Given the description of an element on the screen output the (x, y) to click on. 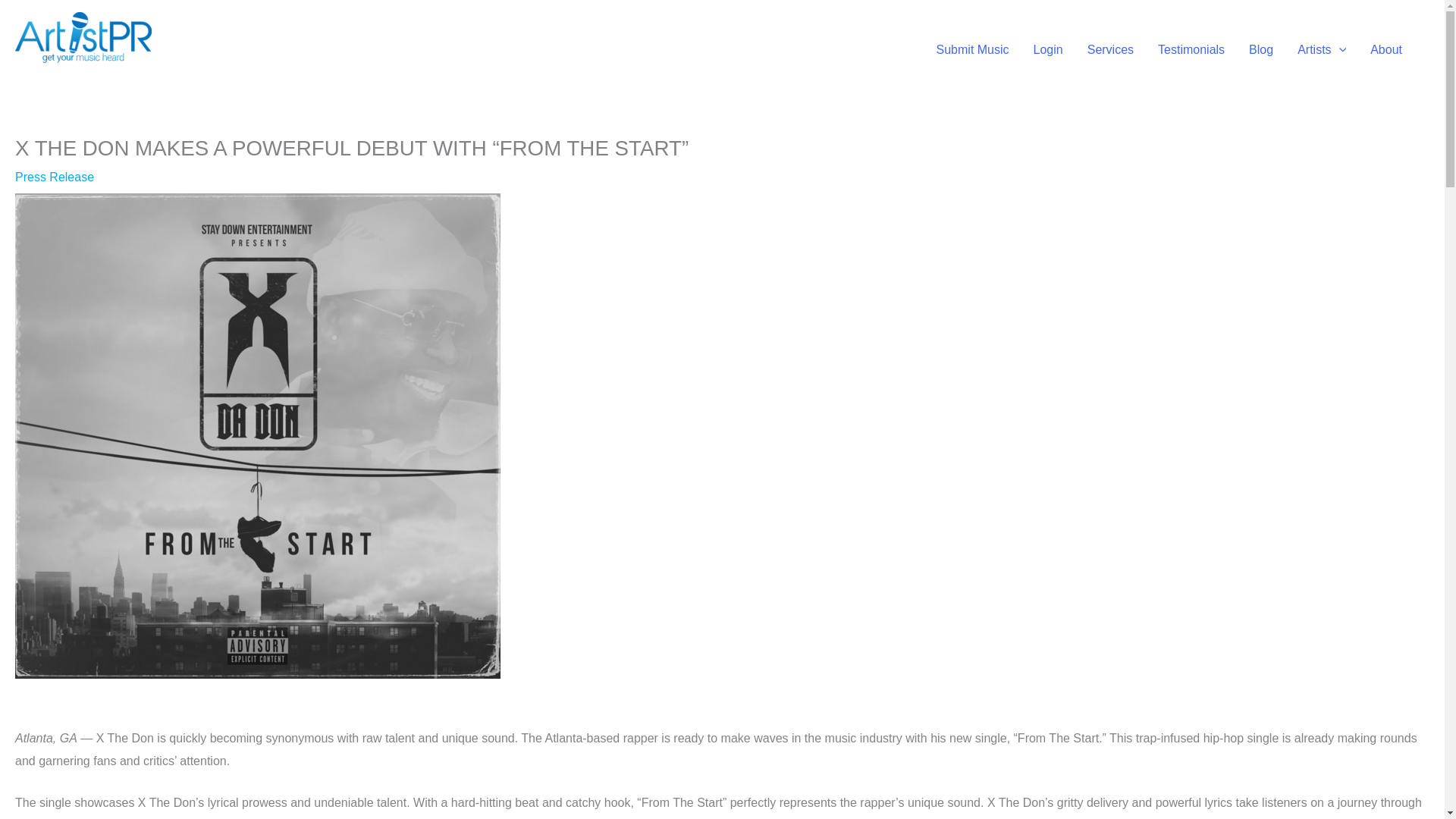
Testimonials (1190, 49)
About (1385, 49)
Login (1048, 49)
Press Release (54, 176)
Blog (1260, 49)
Artists (1321, 49)
Services (1110, 49)
Submit Music (973, 49)
